Given the description of an element on the screen output the (x, y) to click on. 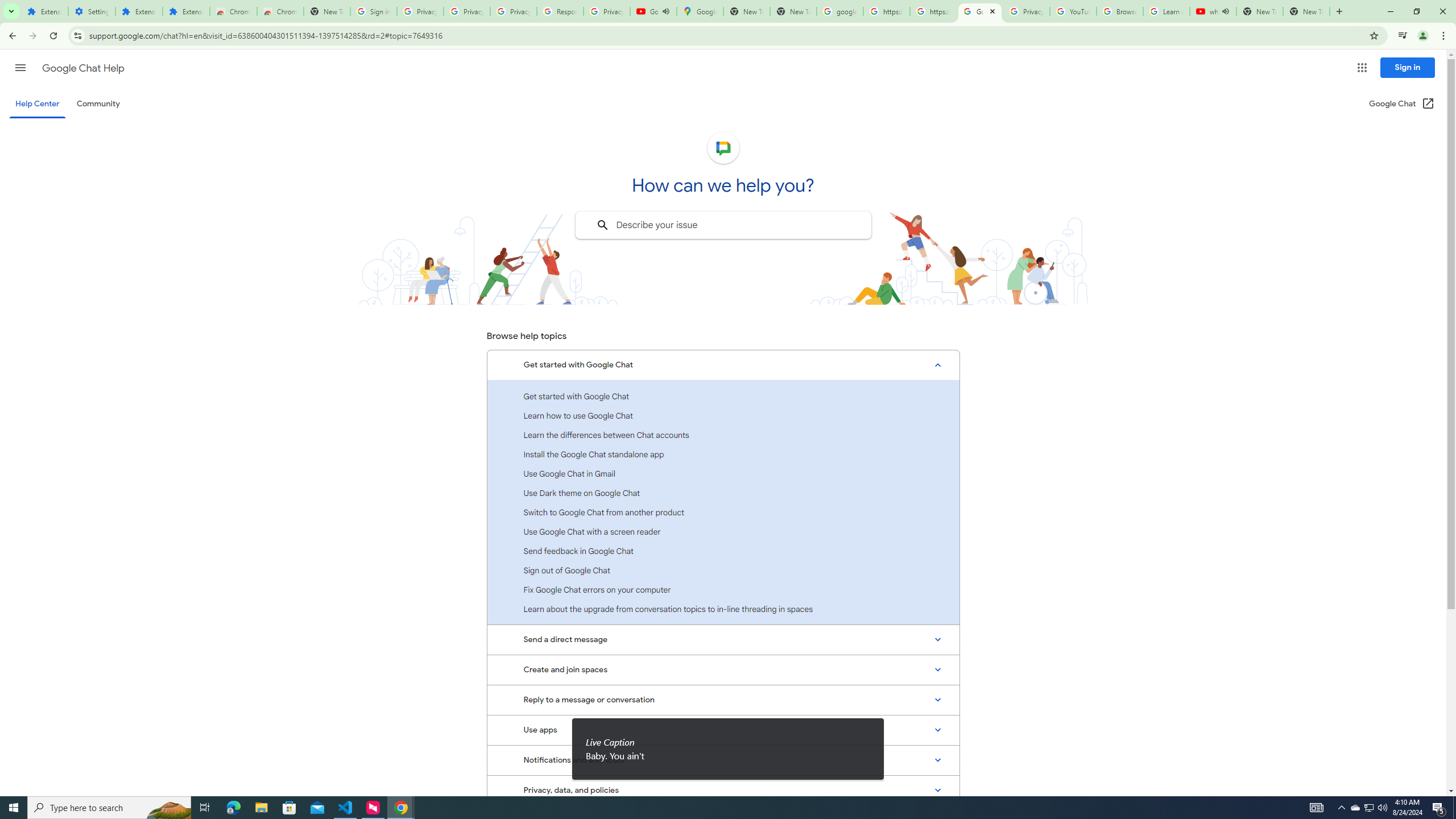
Extensions (44, 11)
Chrome Web Store (233, 11)
Use Dark theme on Google Chat (722, 492)
Use apps (722, 730)
https://scholar.google.com/ (933, 11)
